Given the description of an element on the screen output the (x, y) to click on. 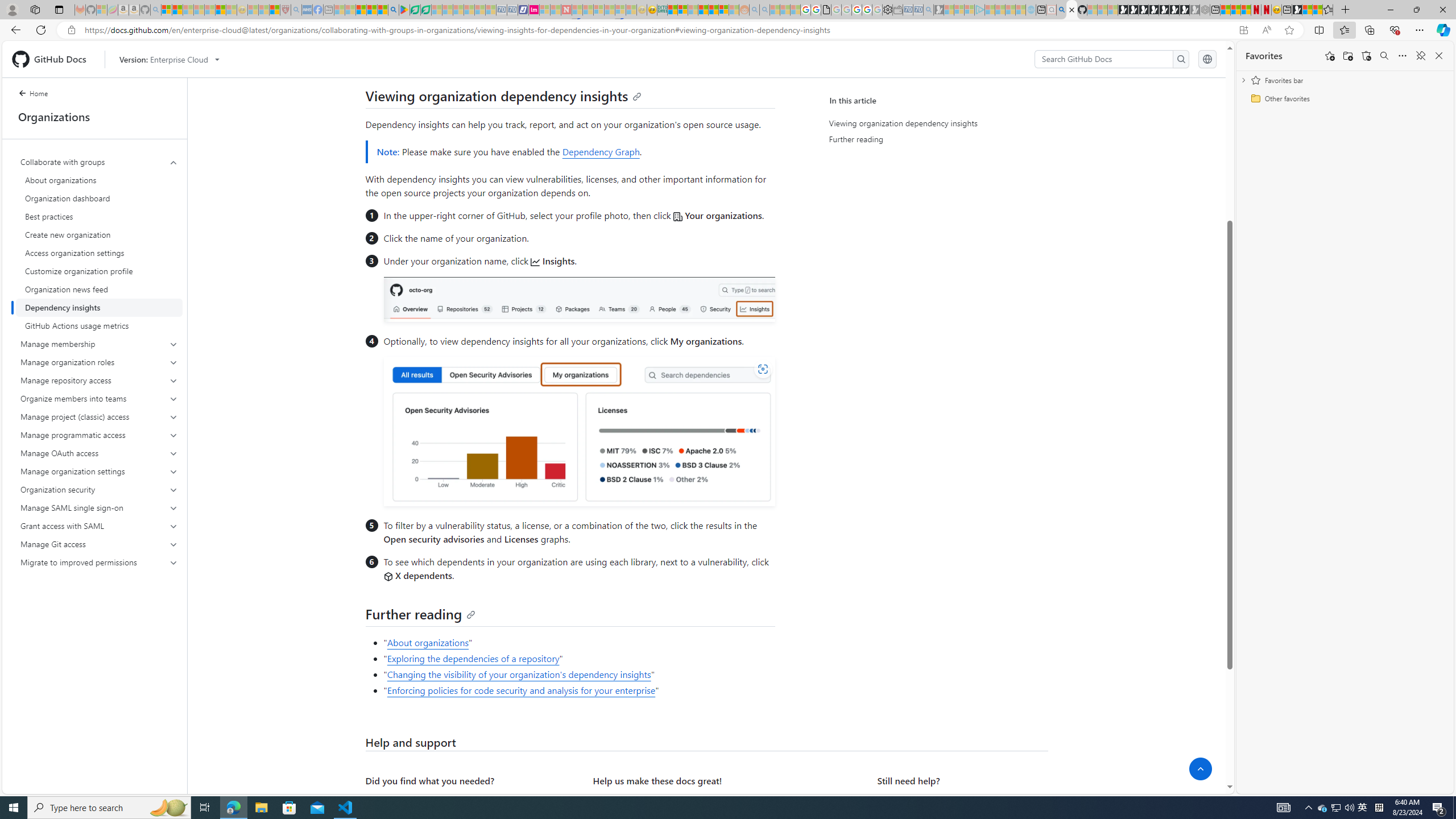
GitHub Actions usage metrics (99, 325)
Manage Git access (99, 543)
Dependency insights (99, 307)
Grant access with SAML (99, 525)
